Given the description of an element on the screen output the (x, y) to click on. 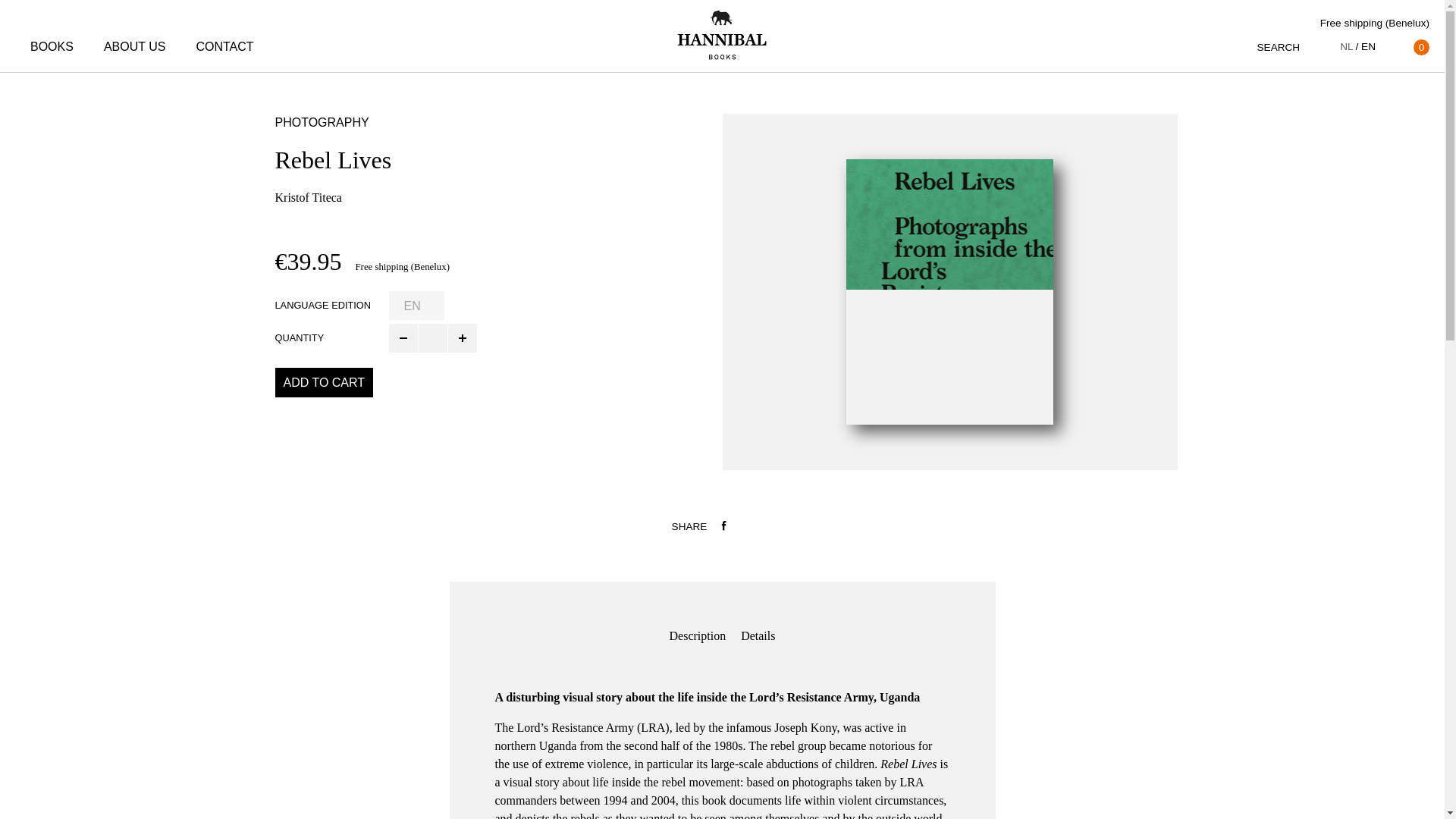
PHOTOGRAPHY (321, 122)
Add to cart (323, 381)
CONTACT (224, 46)
BOOKS (52, 46)
Kristof Titeca (307, 196)
Add to cart (323, 381)
ABOUT US (134, 46)
0 (1409, 47)
EN (1365, 46)
